Given the description of an element on the screen output the (x, y) to click on. 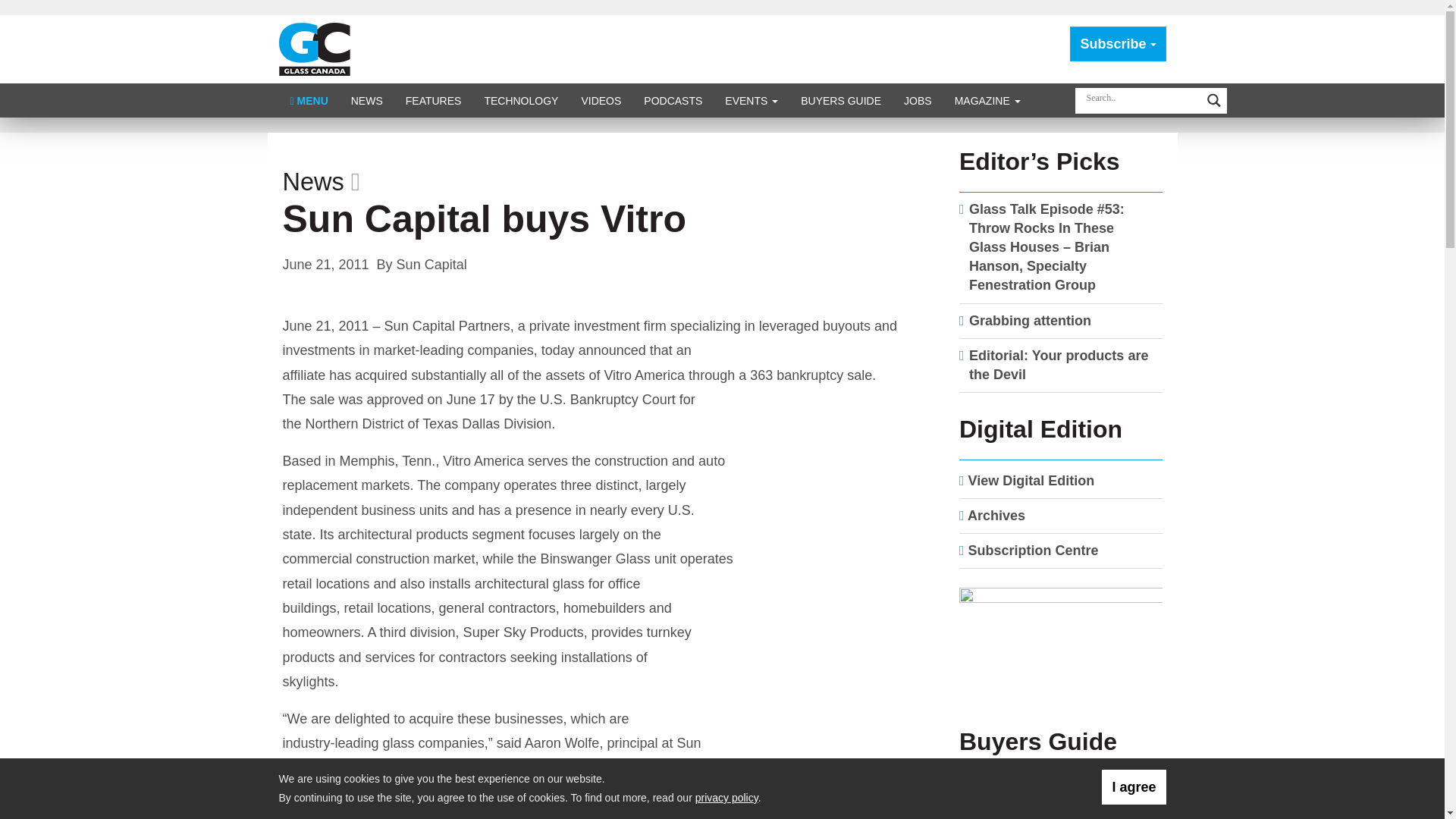
BUYERS GUIDE (840, 100)
Glass Canada (314, 48)
JOBS (917, 100)
Subscribe (1118, 43)
MENU (309, 100)
EVENTS (751, 100)
PODCASTS (672, 100)
VIDEOS (600, 100)
FEATURES (433, 100)
NEWS (366, 100)
